Given the description of an element on the screen output the (x, y) to click on. 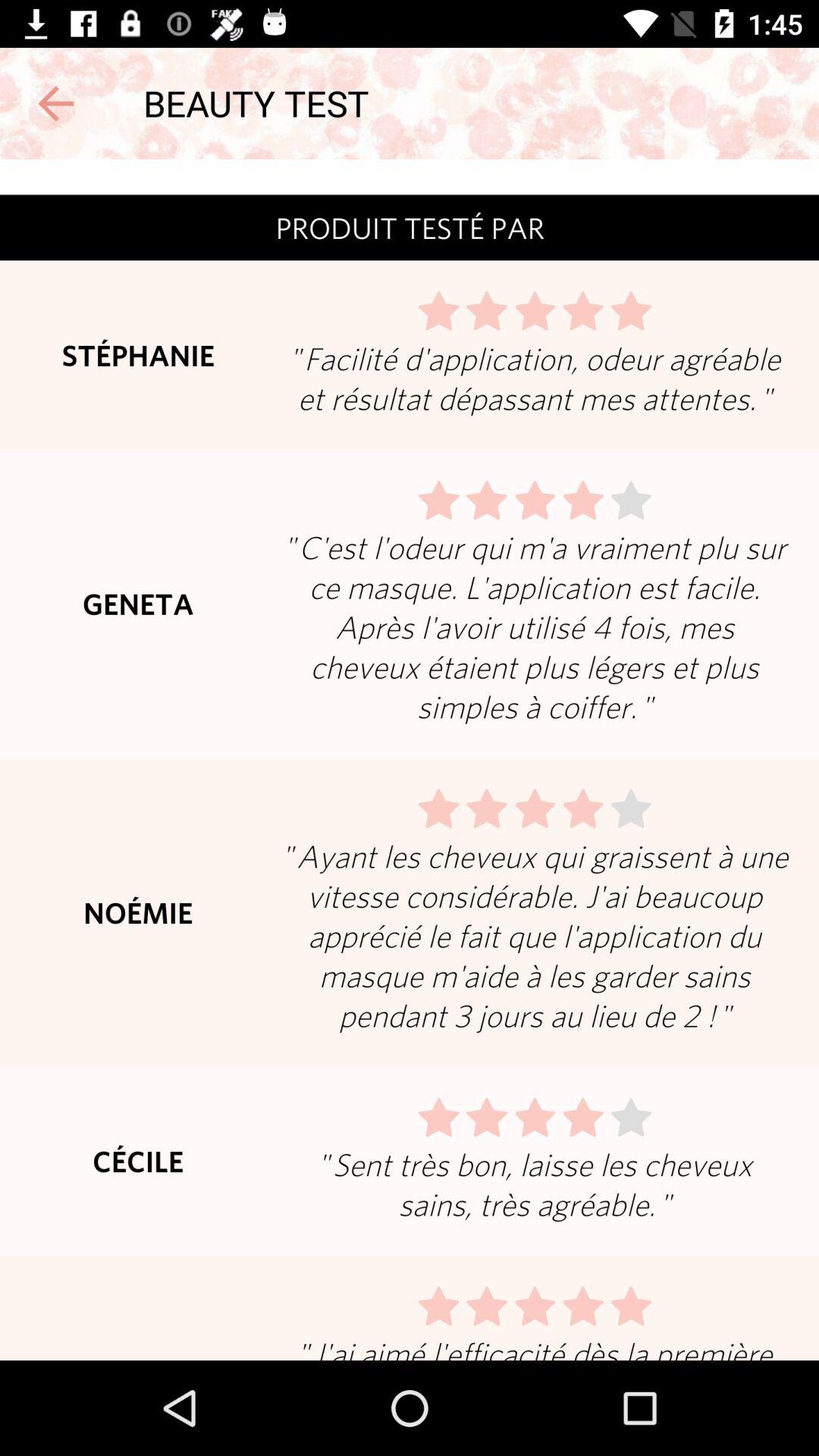
beauty test entire page (409, 759)
